Given the description of an element on the screen output the (x, y) to click on. 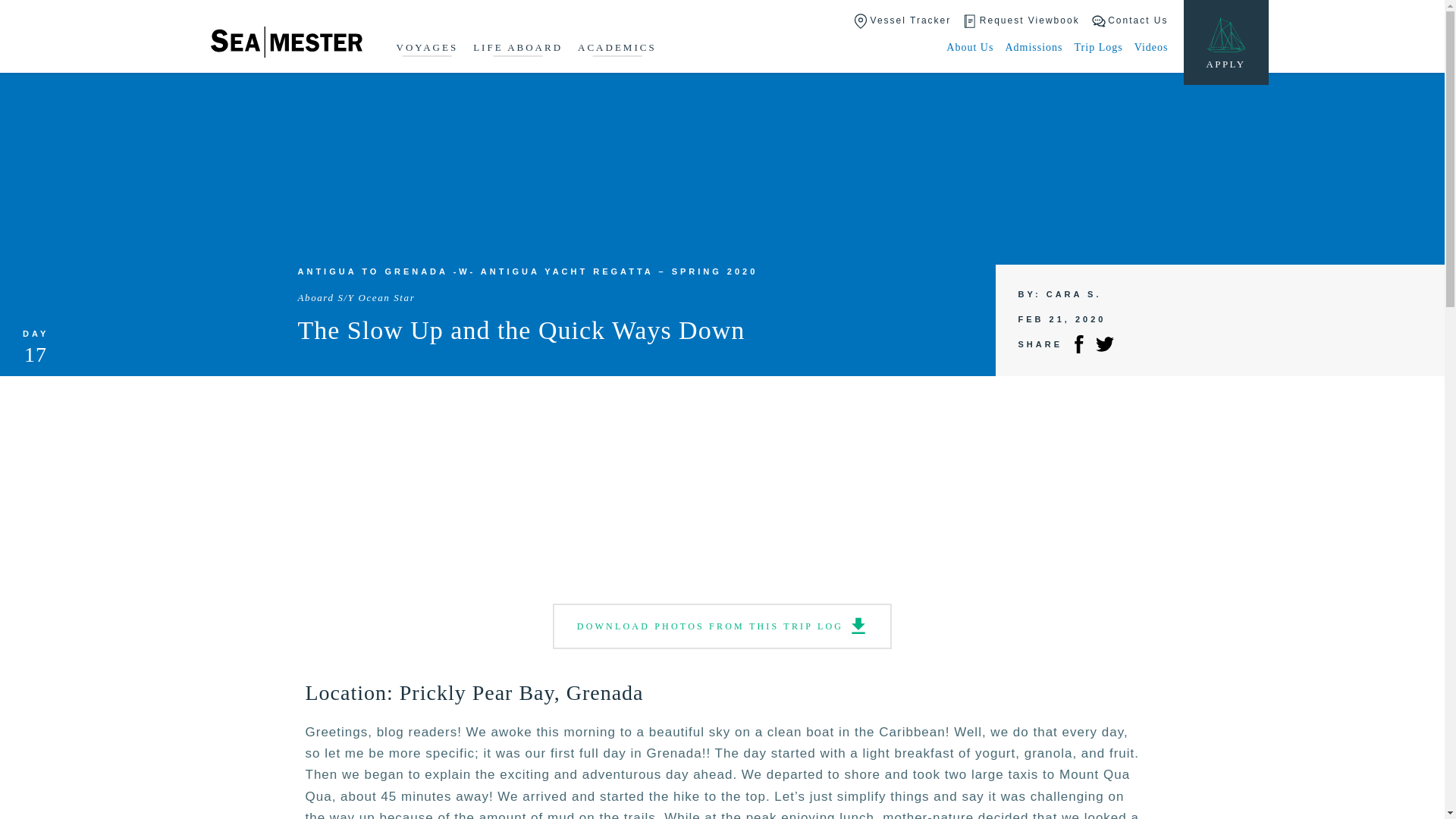
DOWNLOAD PHOTOS FROM THIS TRIP LOG (722, 626)
VOYAGES (427, 48)
ACADEMICS (617, 48)
Trip Logs (1098, 47)
Request Viewbook (1020, 20)
About Us (969, 47)
Vessel Tracker (901, 20)
Admissions (1033, 47)
Contact Us (1129, 20)
Videos (1151, 47)
